Given the description of an element on the screen output the (x, y) to click on. 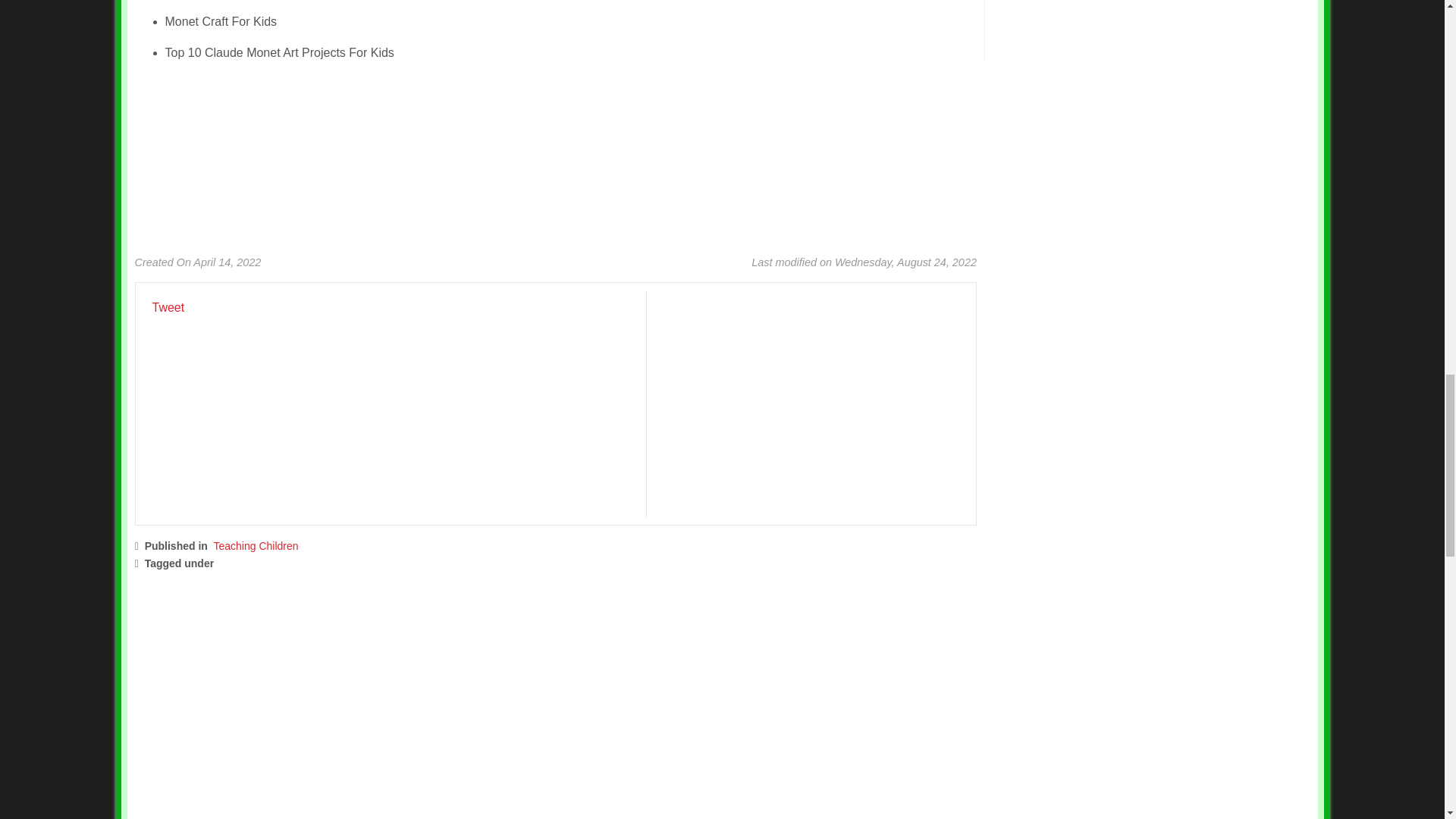
Tweet (167, 307)
famous artists (263, 563)
painting activities (436, 563)
Teaching Children (256, 545)
creative play (525, 563)
art and craft (347, 563)
